Given the description of an element on the screen output the (x, y) to click on. 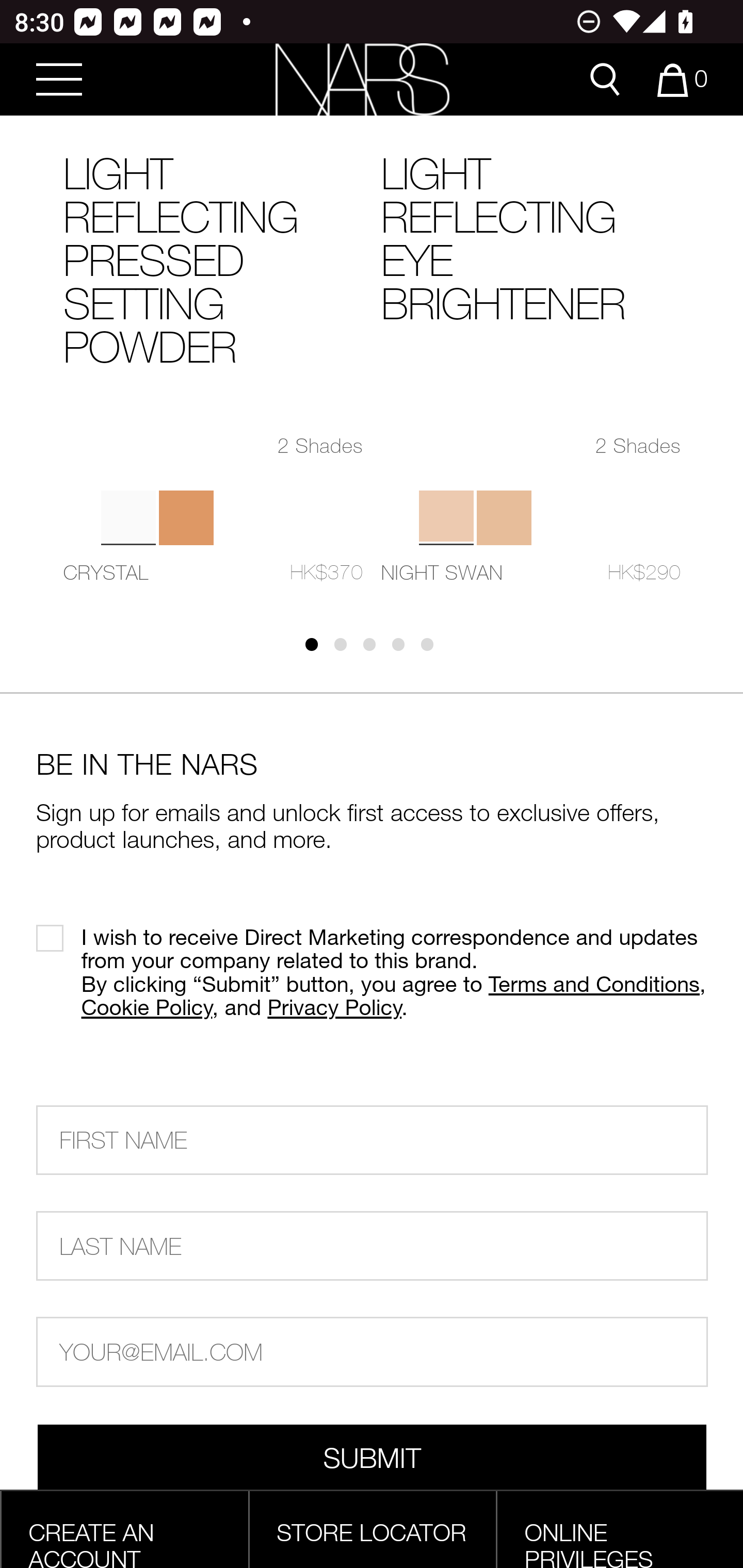
NARS (361, 80)
WHAT ARE YOU LOOKING FOR? (605, 79)
LIGHT REFLECTING PRESSED SETTING POWDER  (212, 276)
LIGHT REFLECTING EYE BRIGHTENER (530, 254)
 product.variations.selected.label (445, 518)
1 (318, 651)
Terms and Conditions (593, 983)
Cookie Policy (146, 1007)
Privacy Policy (334, 1007)
SUBMIT (372, 1458)
CREATE AN ACCOUNT (90, 1542)
STORE LOCATOR (371, 1531)
ONLINE PRIVILEGES (588, 1542)
